Given the description of an element on the screen output the (x, y) to click on. 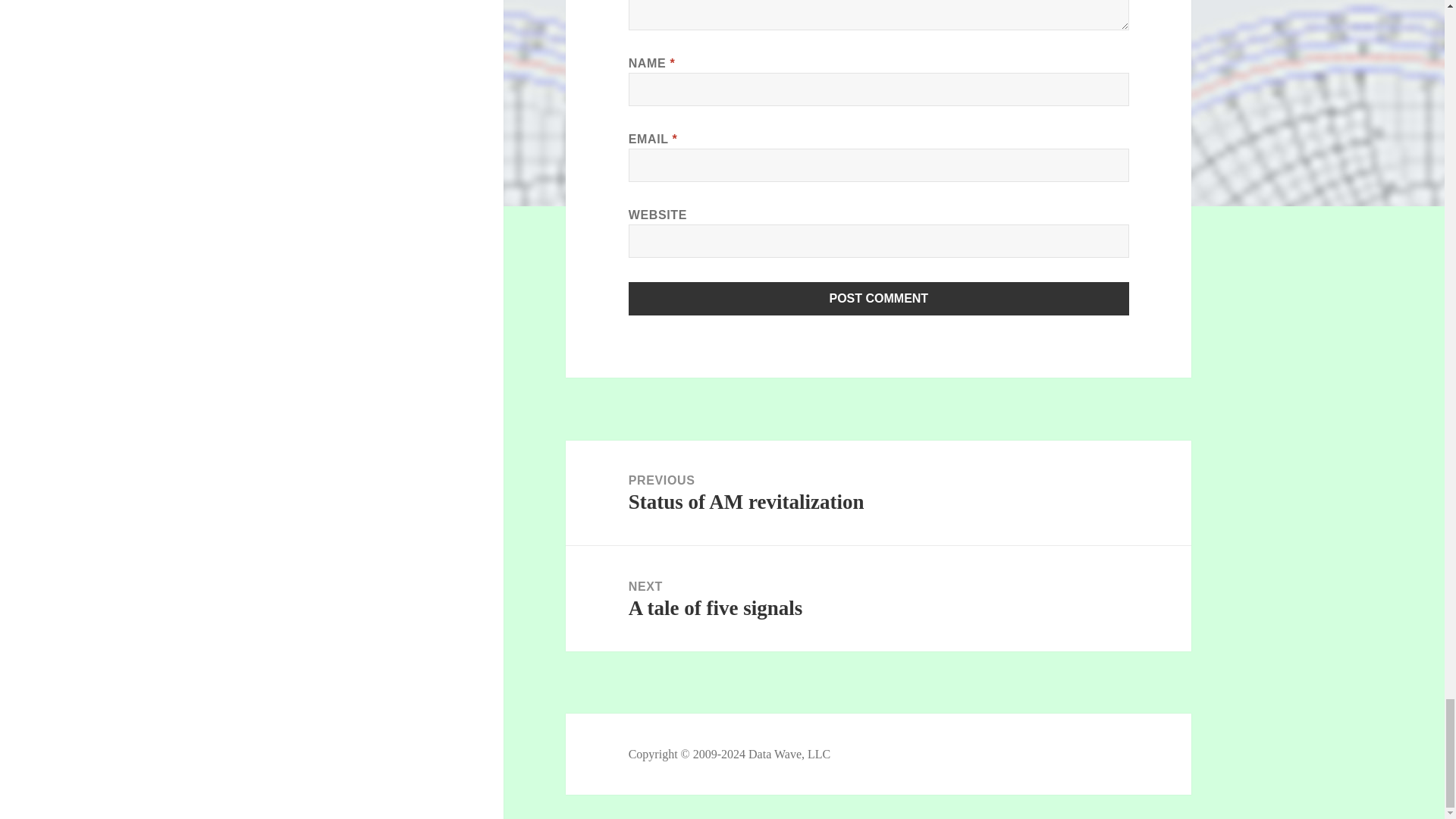
Post Comment (878, 298)
